Given the description of an element on the screen output the (x, y) to click on. 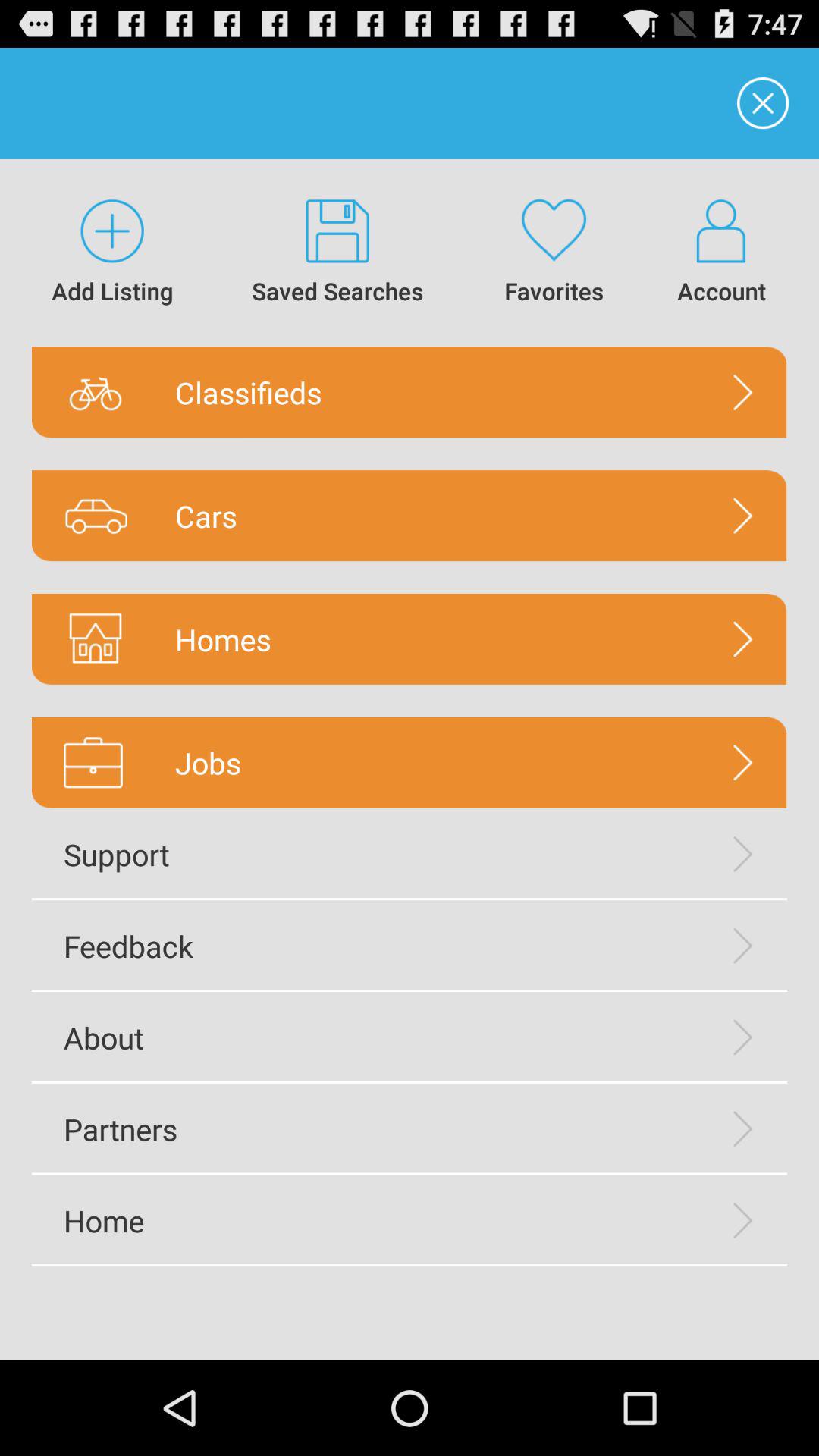
click item next to saved searches item (553, 253)
